Given the description of an element on the screen output the (x, y) to click on. 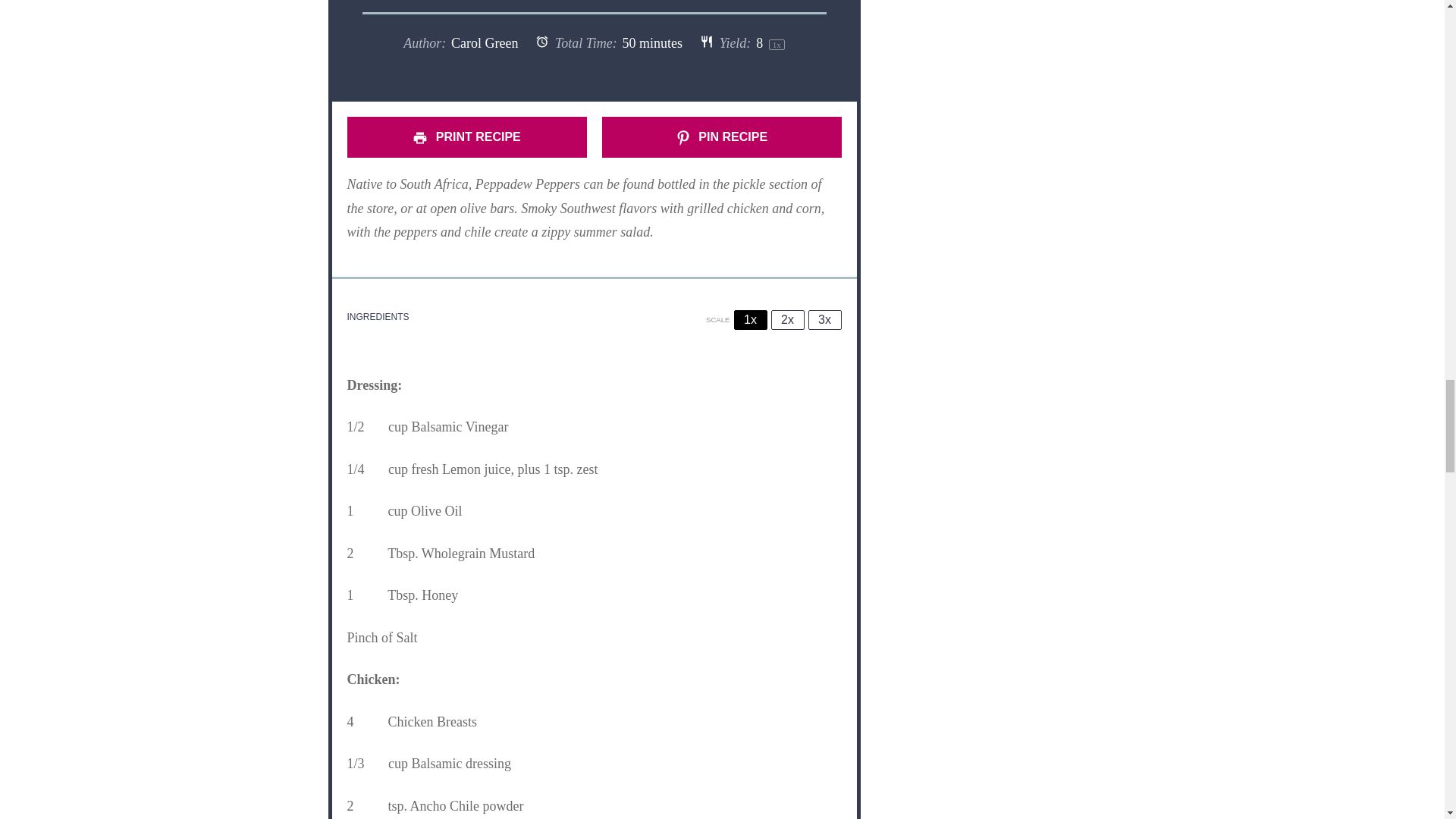
2x (786, 320)
3x (824, 320)
1x (750, 320)
PRINT RECIPE (466, 137)
PIN RECIPE (721, 137)
